Given the description of an element on the screen output the (x, y) to click on. 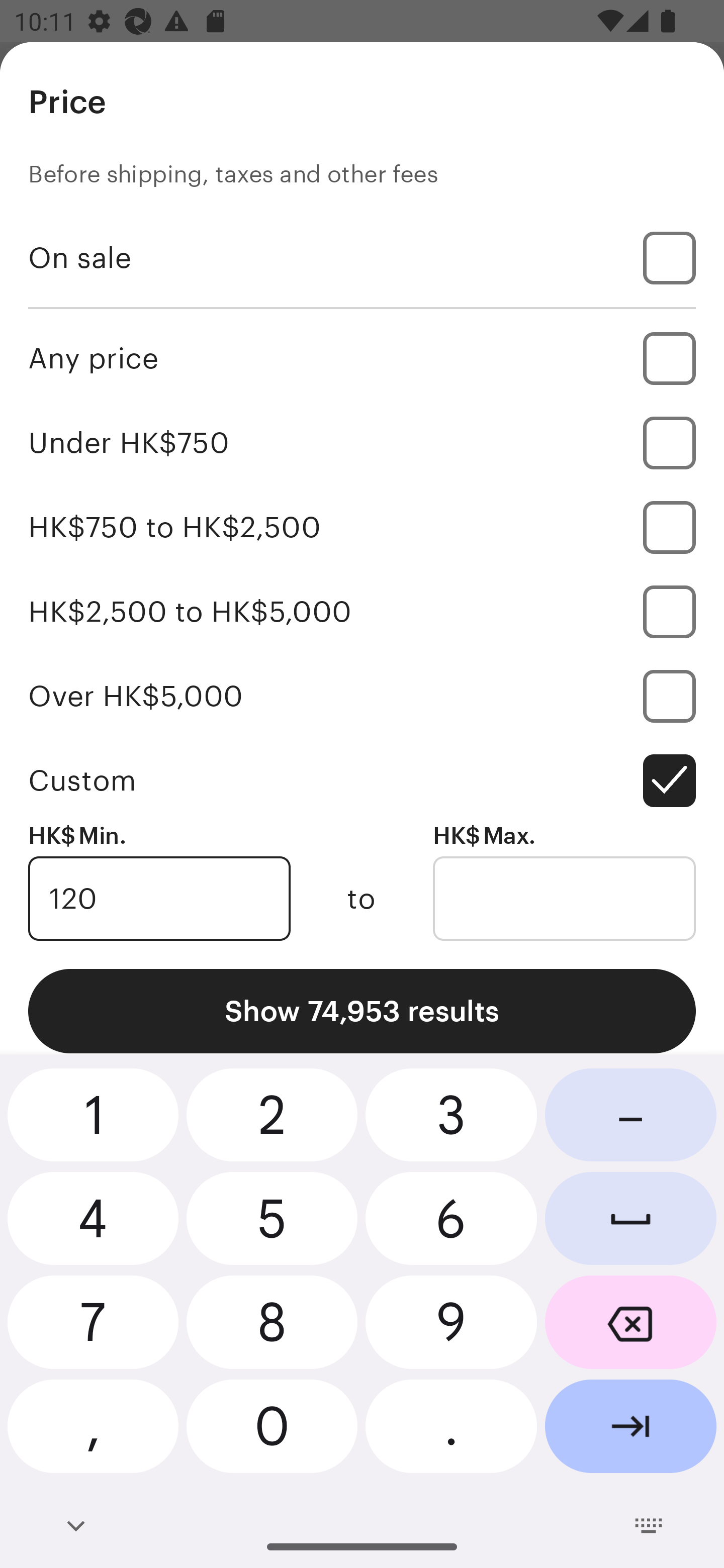
On sale (362, 257)
Any price (362, 357)
Under HK$750 (362, 441)
HK$750 to HK$2,500 (362, 526)
HK$2,500 to HK$5,000 (362, 611)
Over HK$5,000 (362, 695)
Custom (362, 780)
120 (159, 898)
Show 74,953 results (361, 1011)
